Given the description of an element on the screen output the (x, y) to click on. 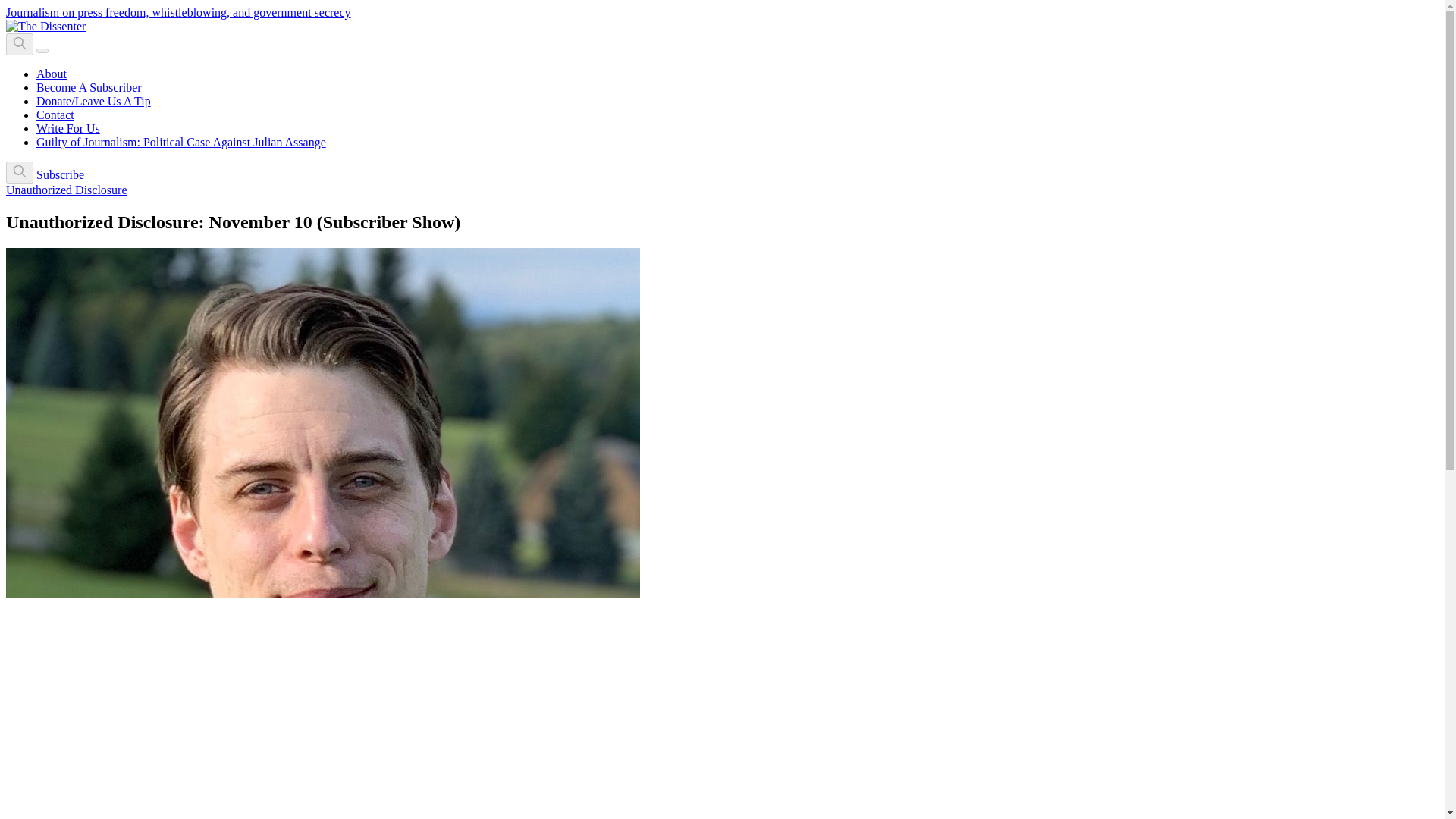
About (51, 73)
Guilty of Journalism: Political Case Against Julian Assange (181, 141)
Unauthorized Disclosure (66, 189)
Write For Us (68, 128)
Subscribe (60, 174)
Become A Subscriber (88, 87)
Contact (55, 114)
